Given the description of an element on the screen output the (x, y) to click on. 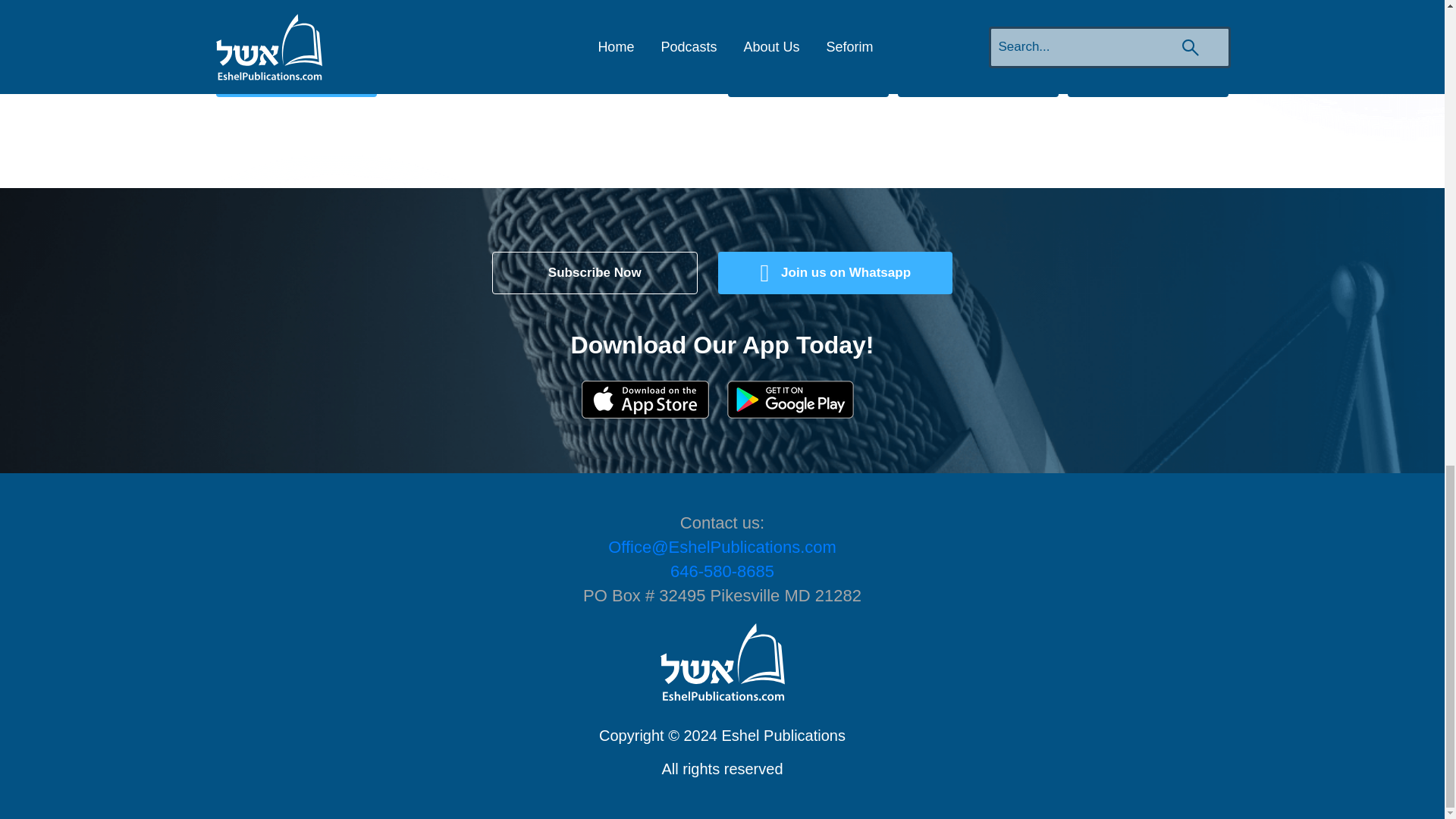
646-580-8685 (721, 570)
Play in new window (978, 76)
Download series (808, 76)
Join us on Whatsapp (834, 272)
Back to Categories (295, 76)
Download (1147, 76)
Subscribe Now (594, 272)
144 shiurim, 3.84GB (808, 76)
